Given the description of an element on the screen output the (x, y) to click on. 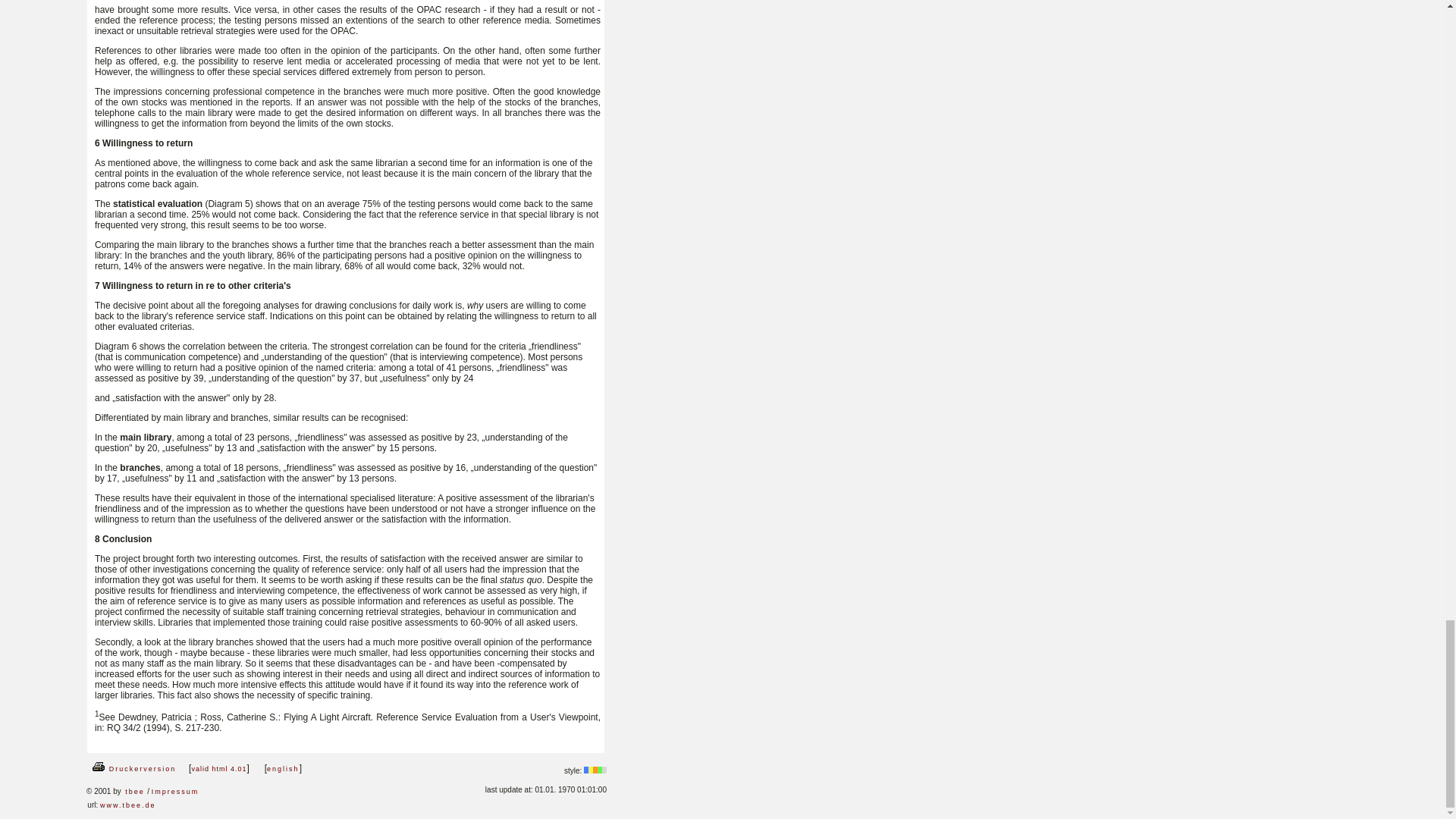
english (282, 768)
valid html 4.01 (218, 768)
Druckerversion (133, 768)
